Given the description of an element on the screen output the (x, y) to click on. 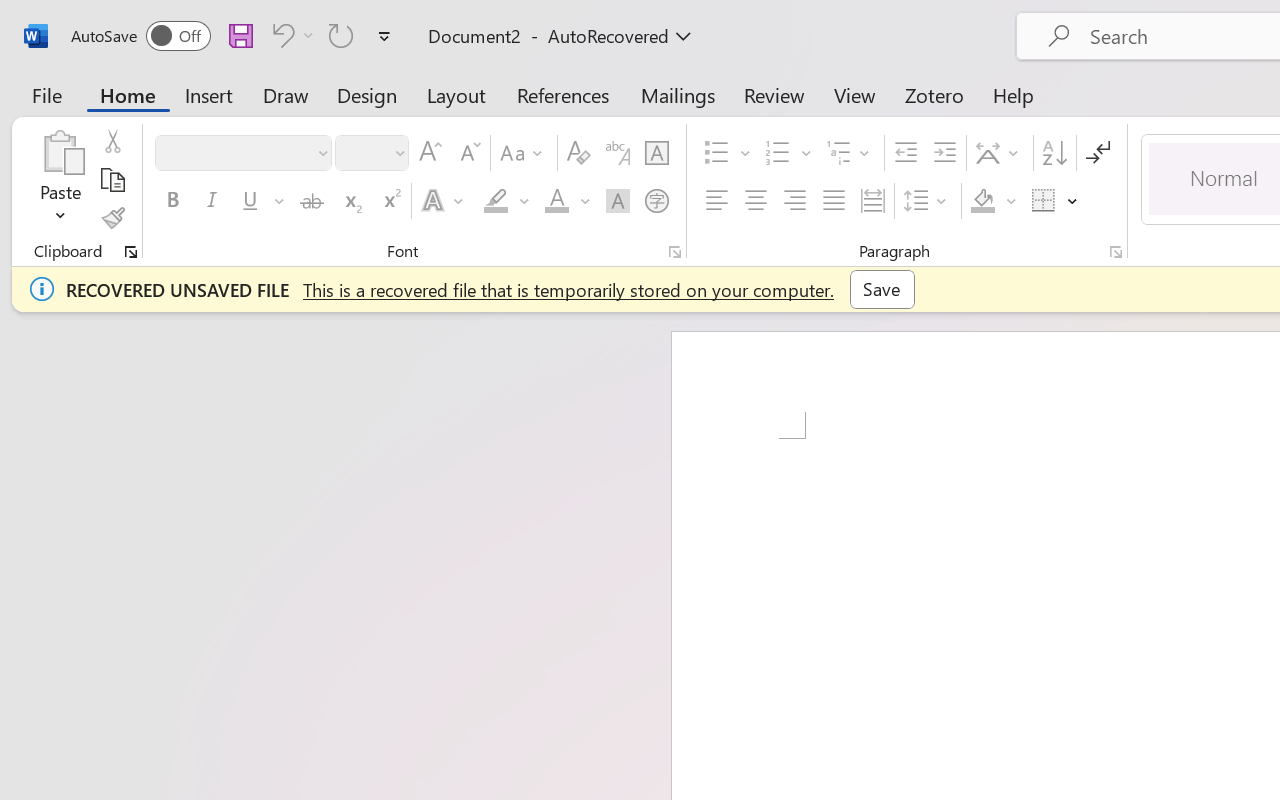
Italic (212, 201)
Enclose Characters... (656, 201)
